Given the description of an element on the screen output the (x, y) to click on. 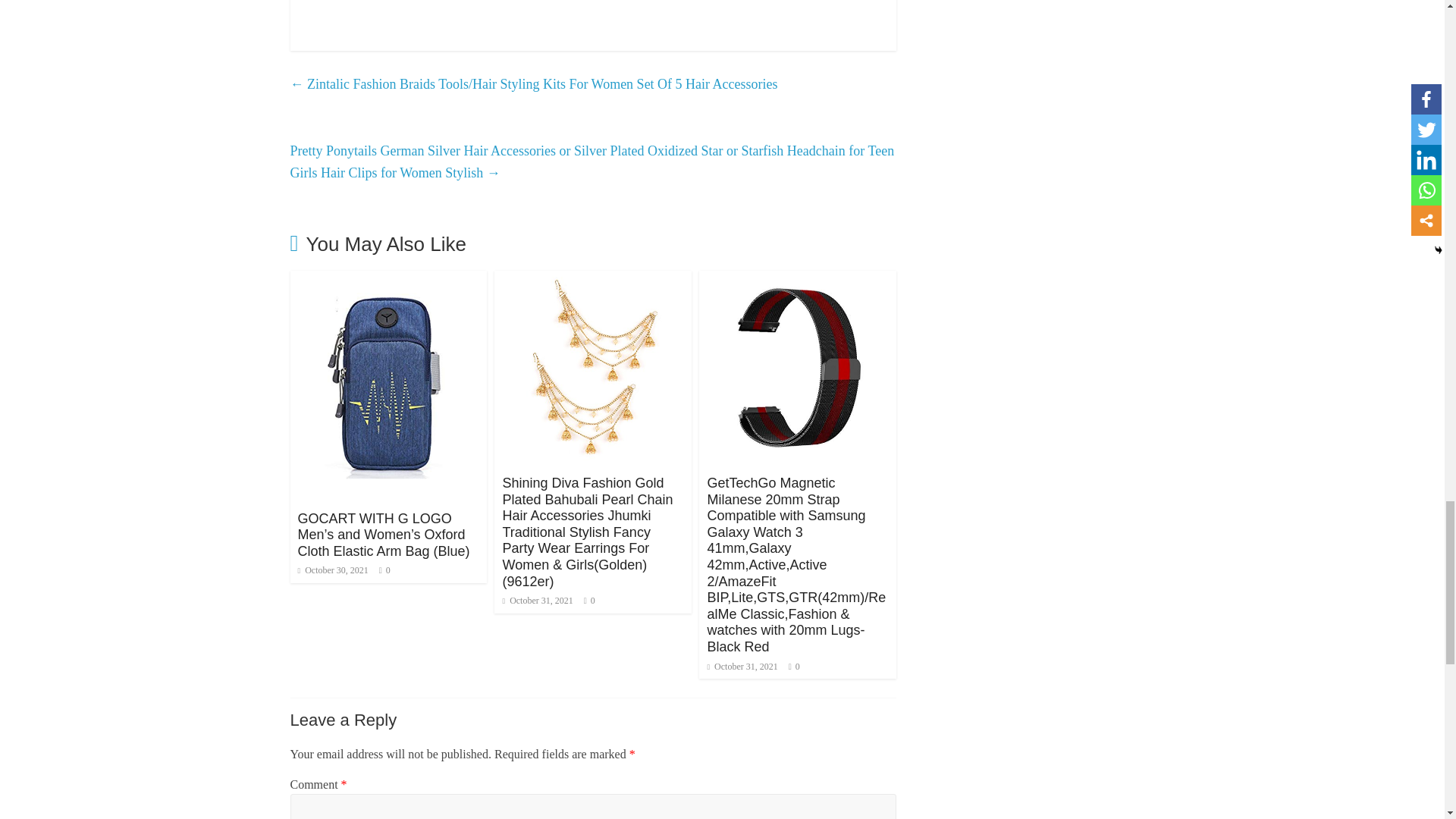
October 30, 2021 (332, 570)
October 31, 2021 (537, 600)
